Given the description of an element on the screen output the (x, y) to click on. 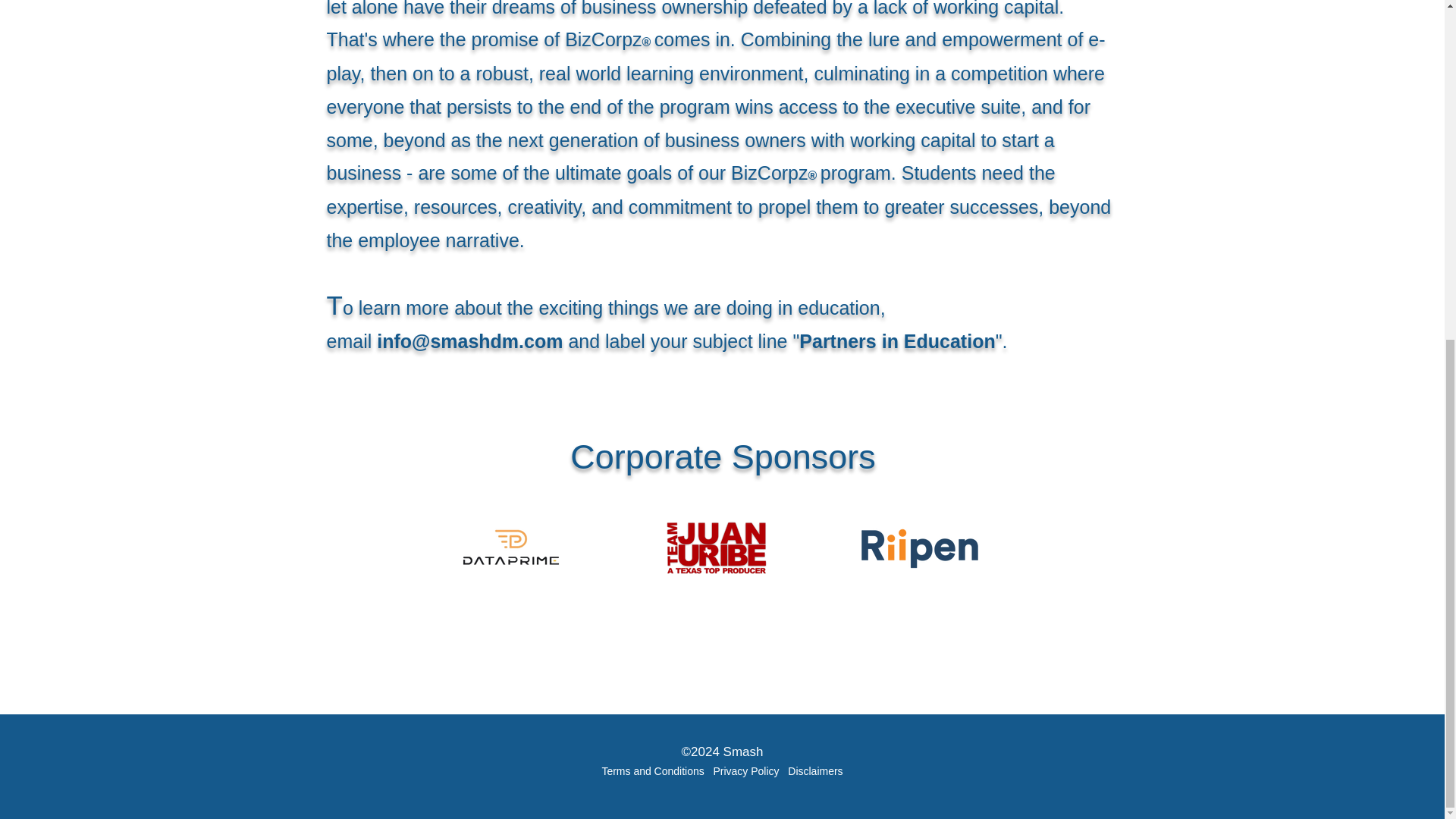
Dataprime.png (511, 546)
TJU.png (716, 547)
Terms and Conditions (652, 770)
Riipen.png (920, 546)
Disclaimers (815, 770)
Privacy Policy    (750, 770)
